Given the description of an element on the screen output the (x, y) to click on. 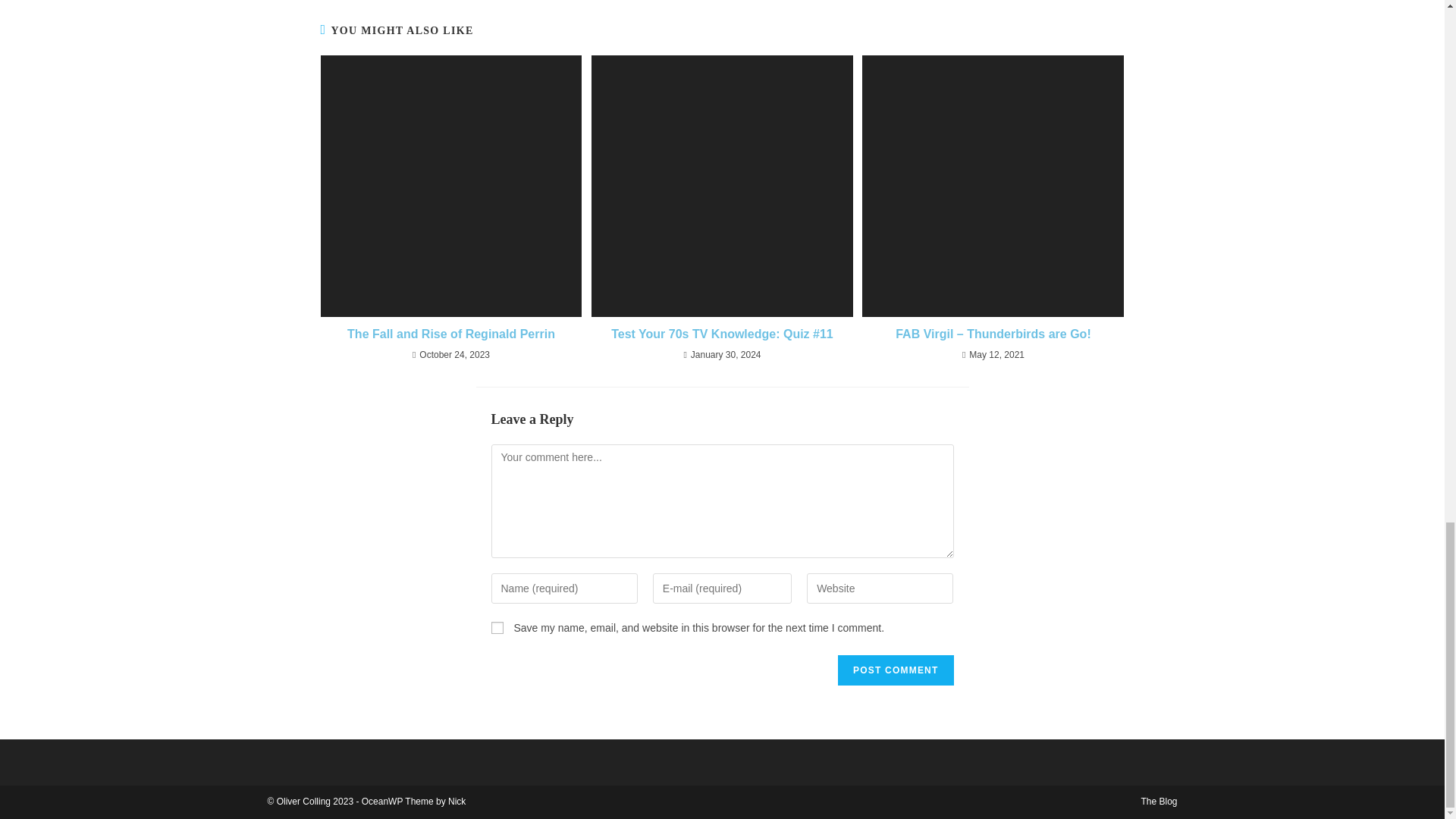
The Fall and Rise of Reginald Perrin (450, 334)
Post Comment (895, 670)
Post Comment (895, 670)
yes (497, 627)
The Blog (1158, 801)
